Given the description of an element on the screen output the (x, y) to click on. 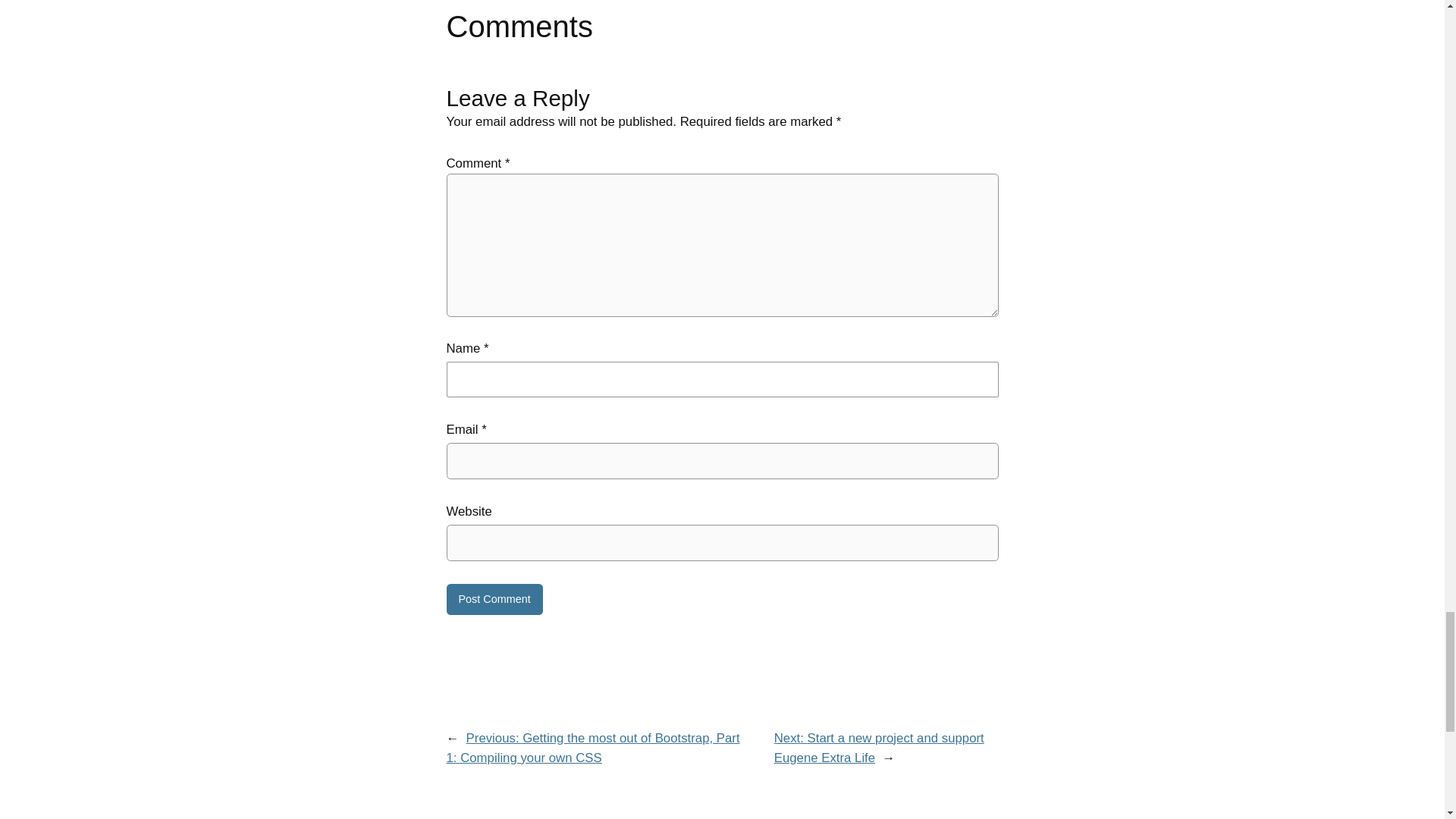
Post Comment (493, 599)
Post Comment (493, 599)
Next: Start a new project and support Eugene Extra Life (879, 747)
